Given the description of an element on the screen output the (x, y) to click on. 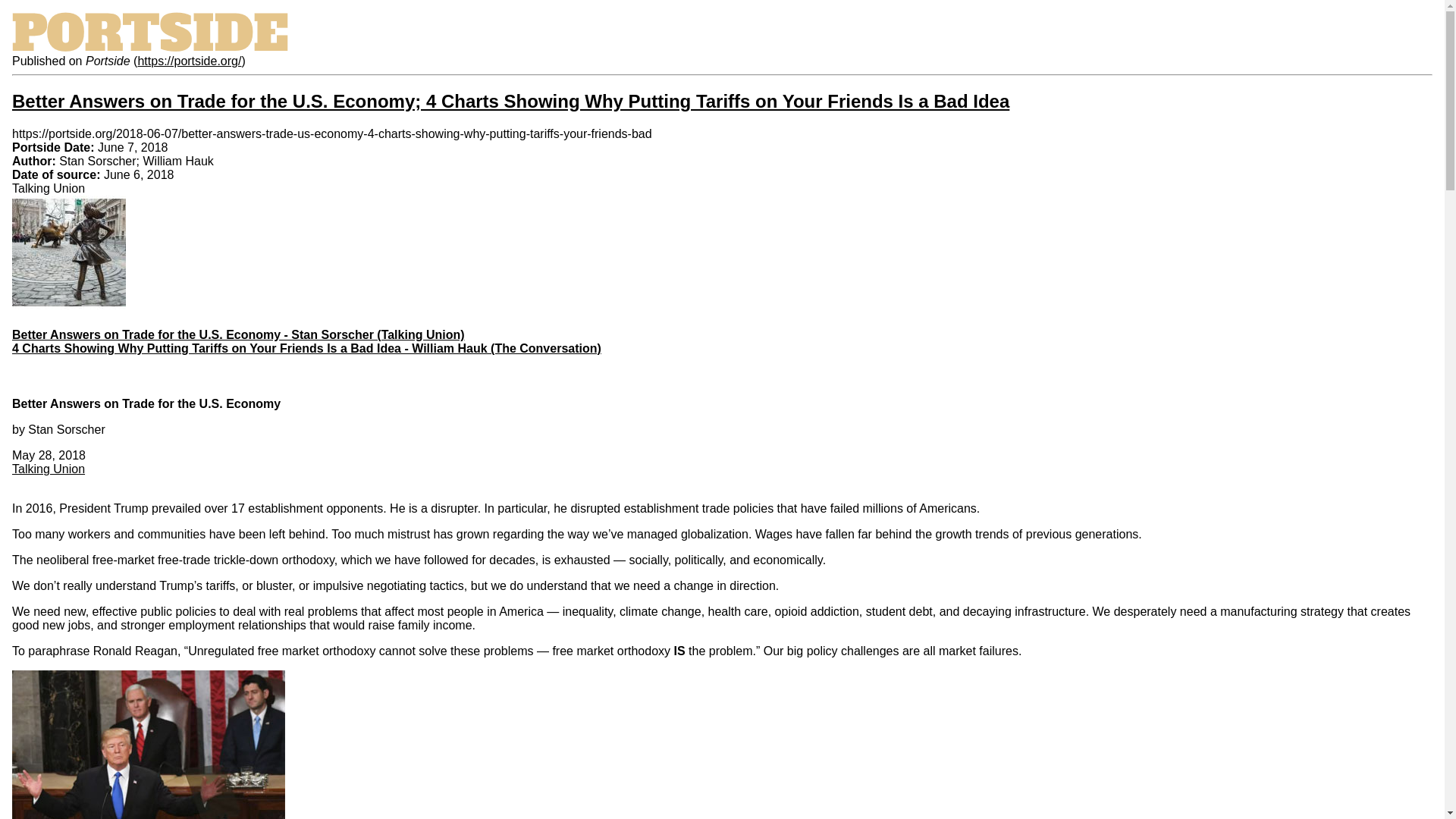
Better Answers on Trade for the U.S. Economy (146, 403)
Talking Union (47, 468)
